Given the description of an element on the screen output the (x, y) to click on. 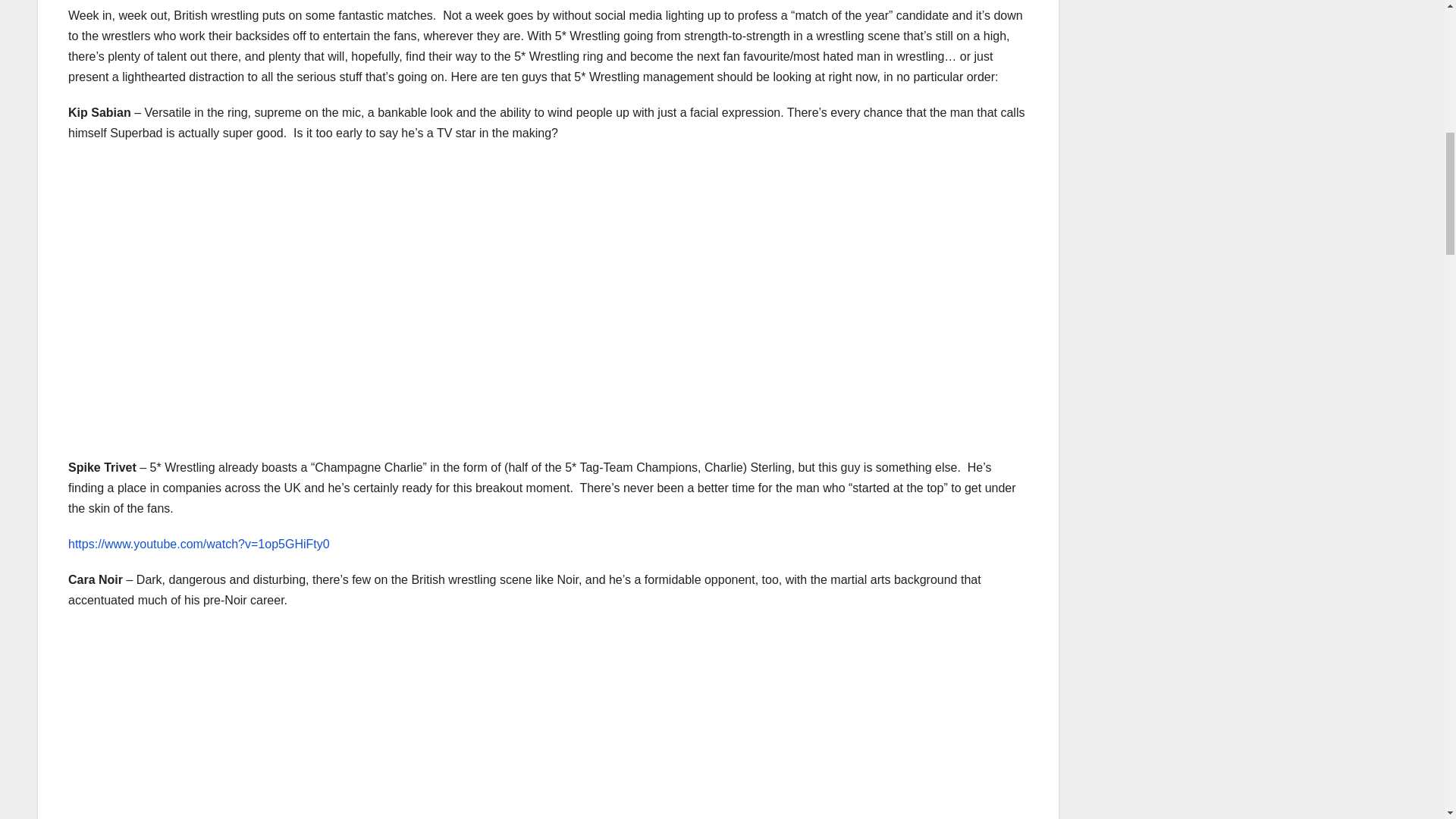
Damian Dunne introduces Kip Sabian as newest member of GBH (310, 294)
